Given the description of an element on the screen output the (x, y) to click on. 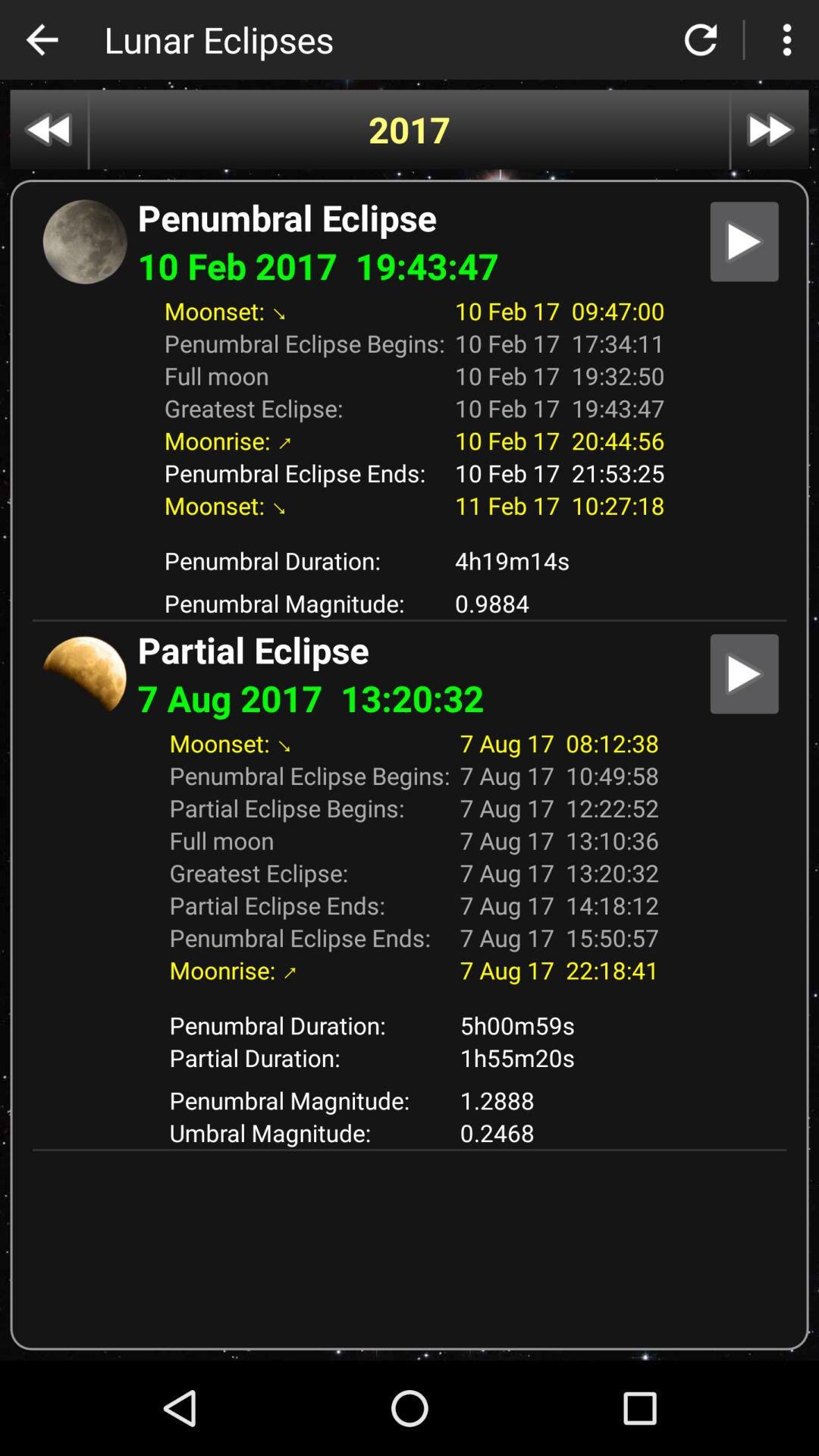
go back to previous (41, 39)
